Given the description of an element on the screen output the (x, y) to click on. 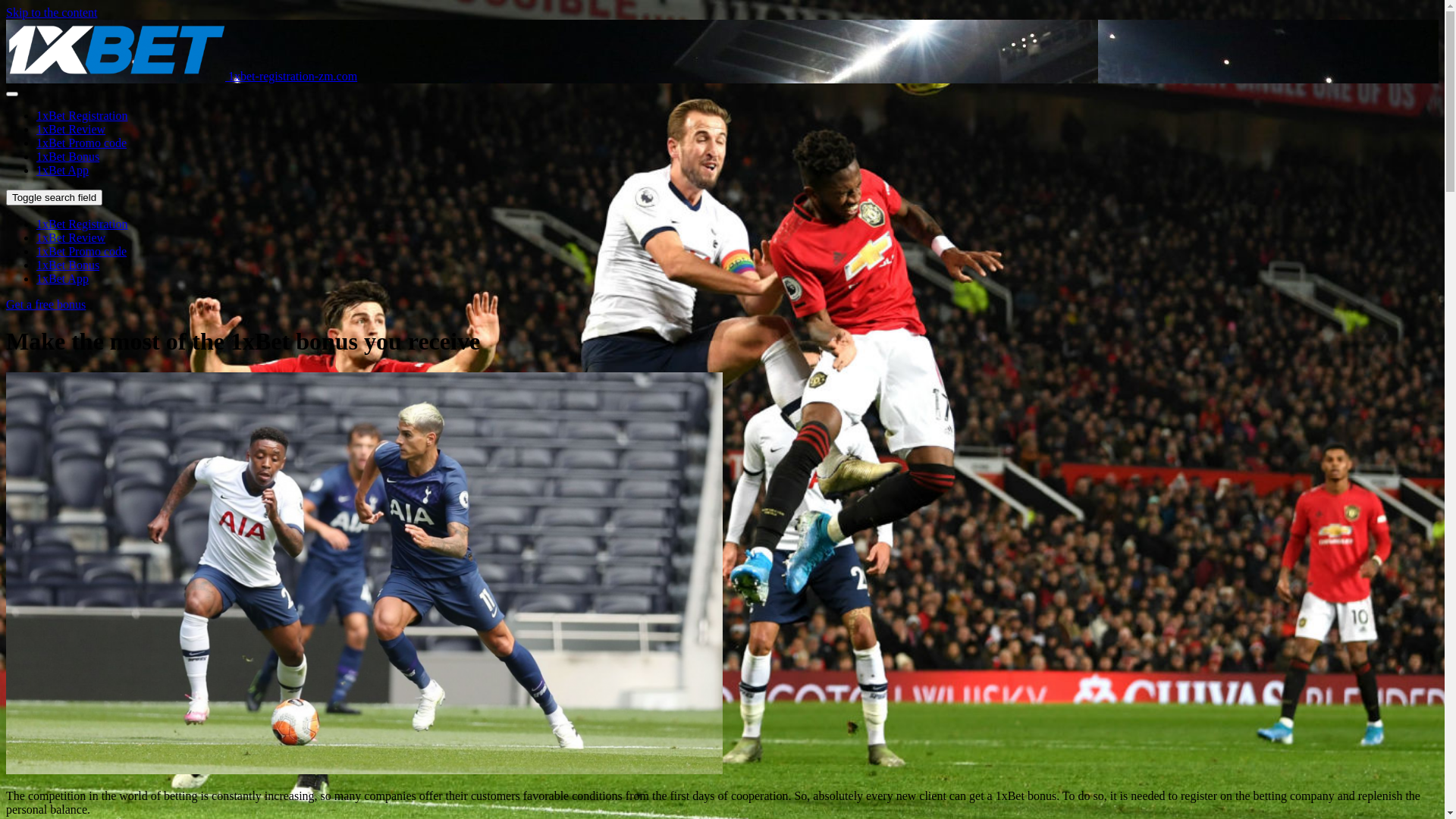
1xBet Review Element type: text (70, 237)
1xBet Bonus Element type: text (67, 264)
1xBet App Element type: text (62, 169)
Get a free bonus Element type: text (45, 304)
1xBet Promo code Element type: text (81, 250)
Skip to the content Element type: text (51, 12)
1xBet Review Element type: text (70, 128)
1xBet Promo code Element type: text (81, 142)
1xBet Registration Element type: text (81, 223)
Toggle search field Element type: text (54, 197)
1xbet-registration-zm.com Element type: text (181, 75)
1xBet Bonus Element type: text (67, 156)
1xBet App Element type: text (62, 278)
1xBet Registration Element type: text (81, 115)
